Given the description of an element on the screen output the (x, y) to click on. 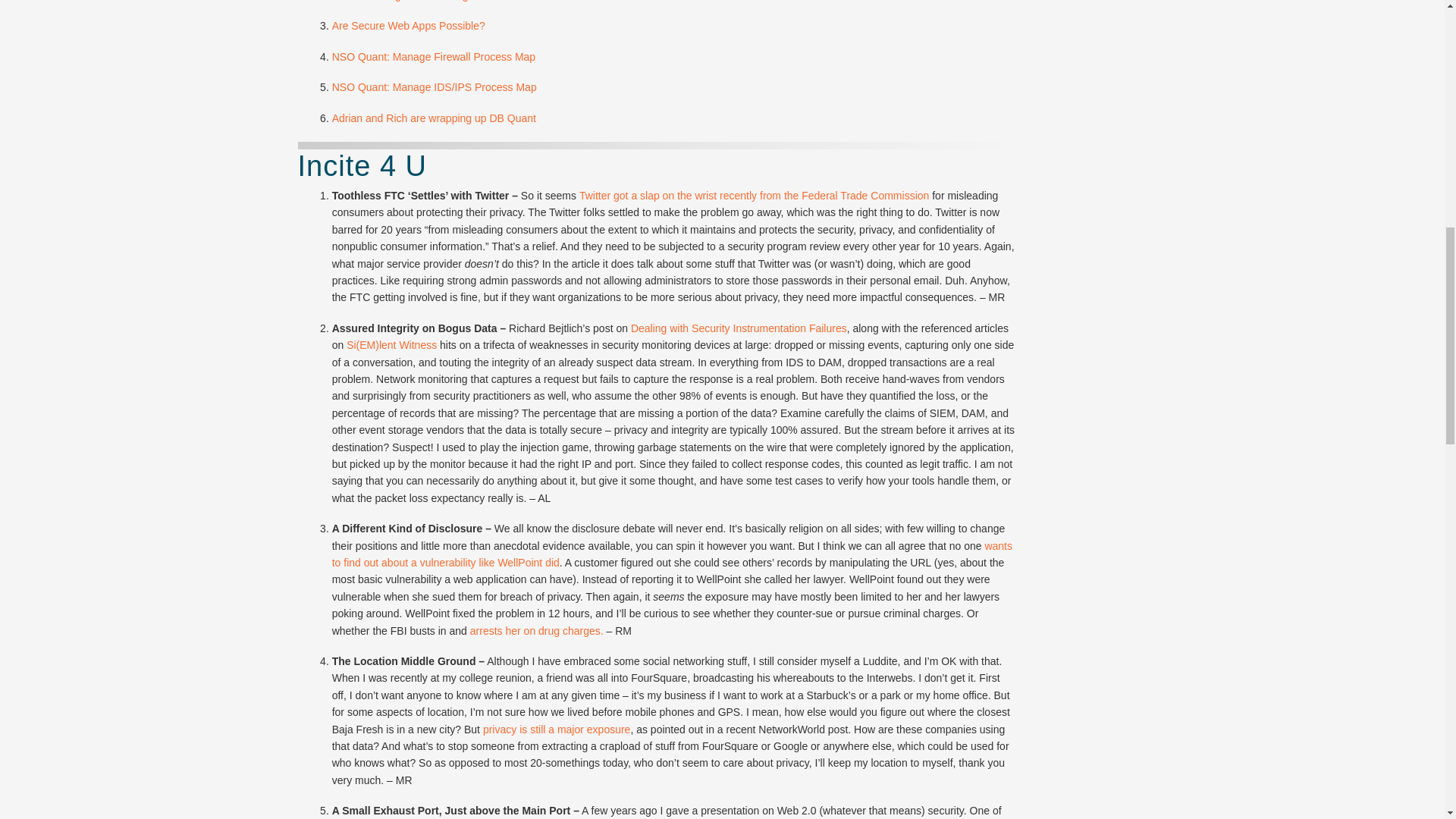
privacy is still a major exposure (556, 729)
NSO Quant: Manage Firewall Process Map (433, 56)
arrests her on drug charges. (537, 630)
Dealing with Security Instrumentation Failures (738, 328)
wants to find out about a vulnerability like WellPoint did (671, 553)
Adrian and Rich are wrapping up DB Quant (433, 118)
Are Secure Web Apps Possible? (407, 25)
